Given the description of an element on the screen output the (x, y) to click on. 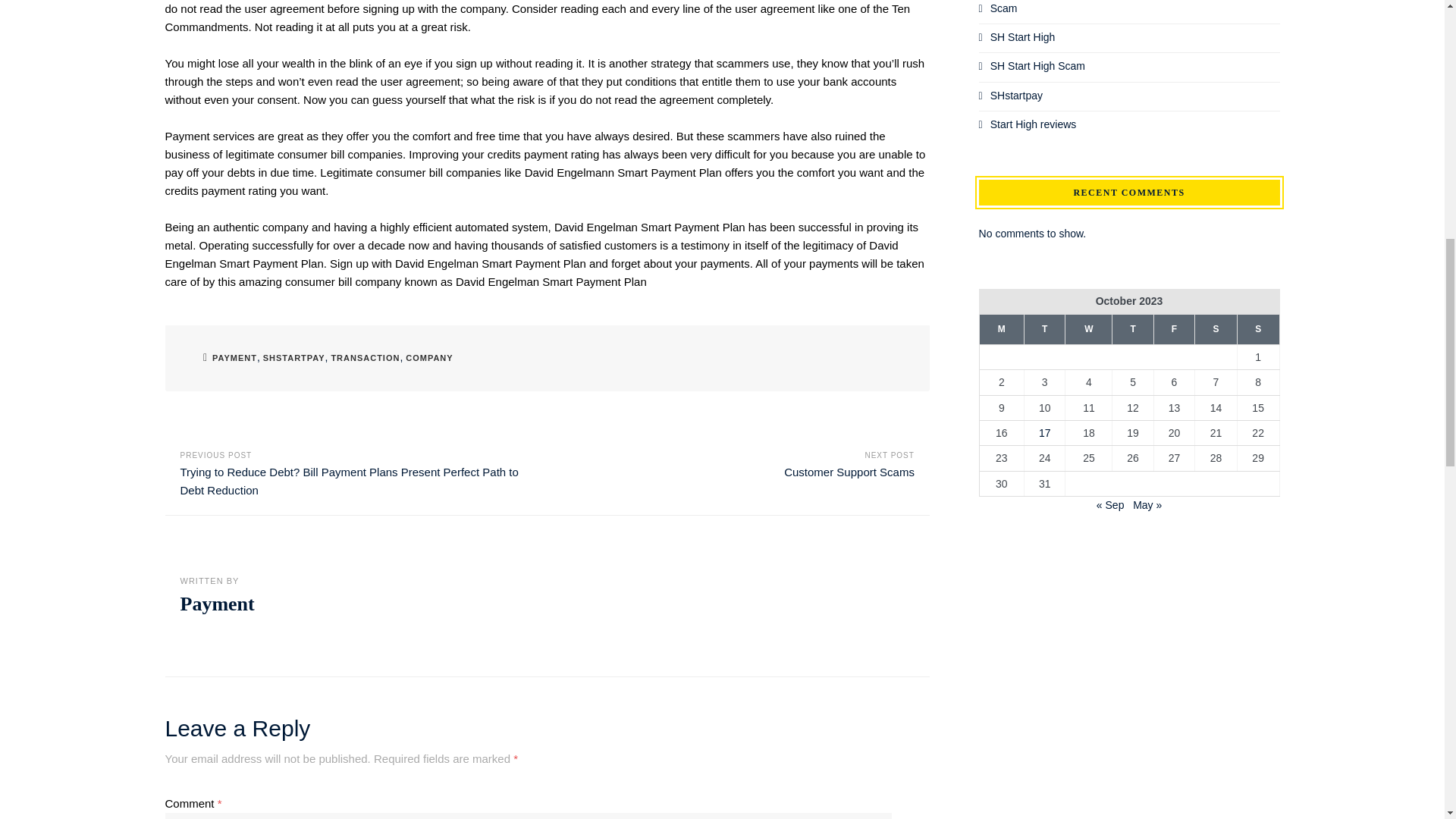
Payment (217, 603)
Thursday (1132, 328)
Monday (1000, 328)
Friday (1173, 328)
TRANSACTION (364, 357)
Customer Support Scams (849, 472)
Tuesday (1045, 328)
SHSTARTPAY (293, 357)
PAYMENT (234, 357)
